Given the description of an element on the screen output the (x, y) to click on. 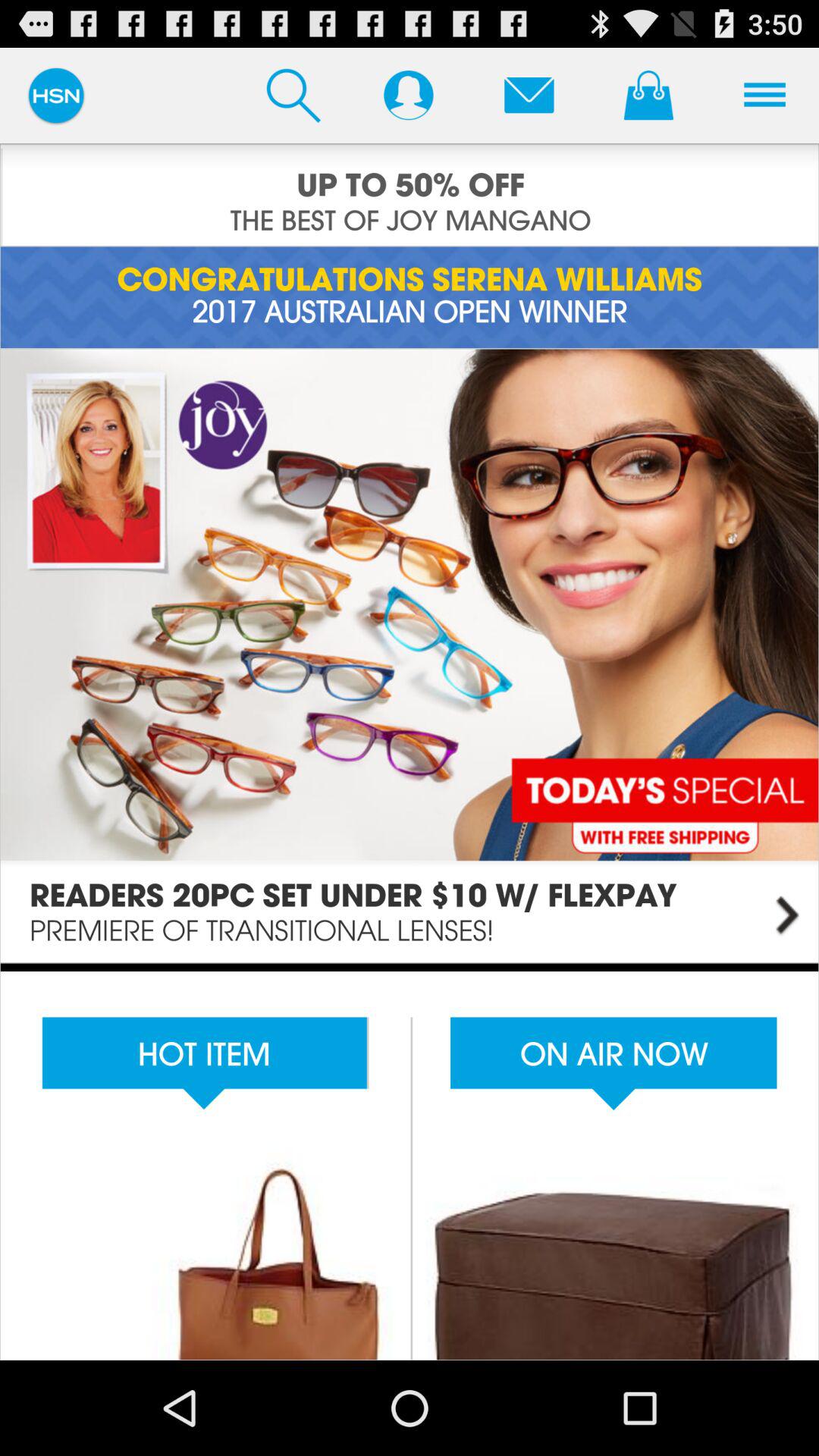
view details (409, 655)
